Given the description of an element on the screen output the (x, y) to click on. 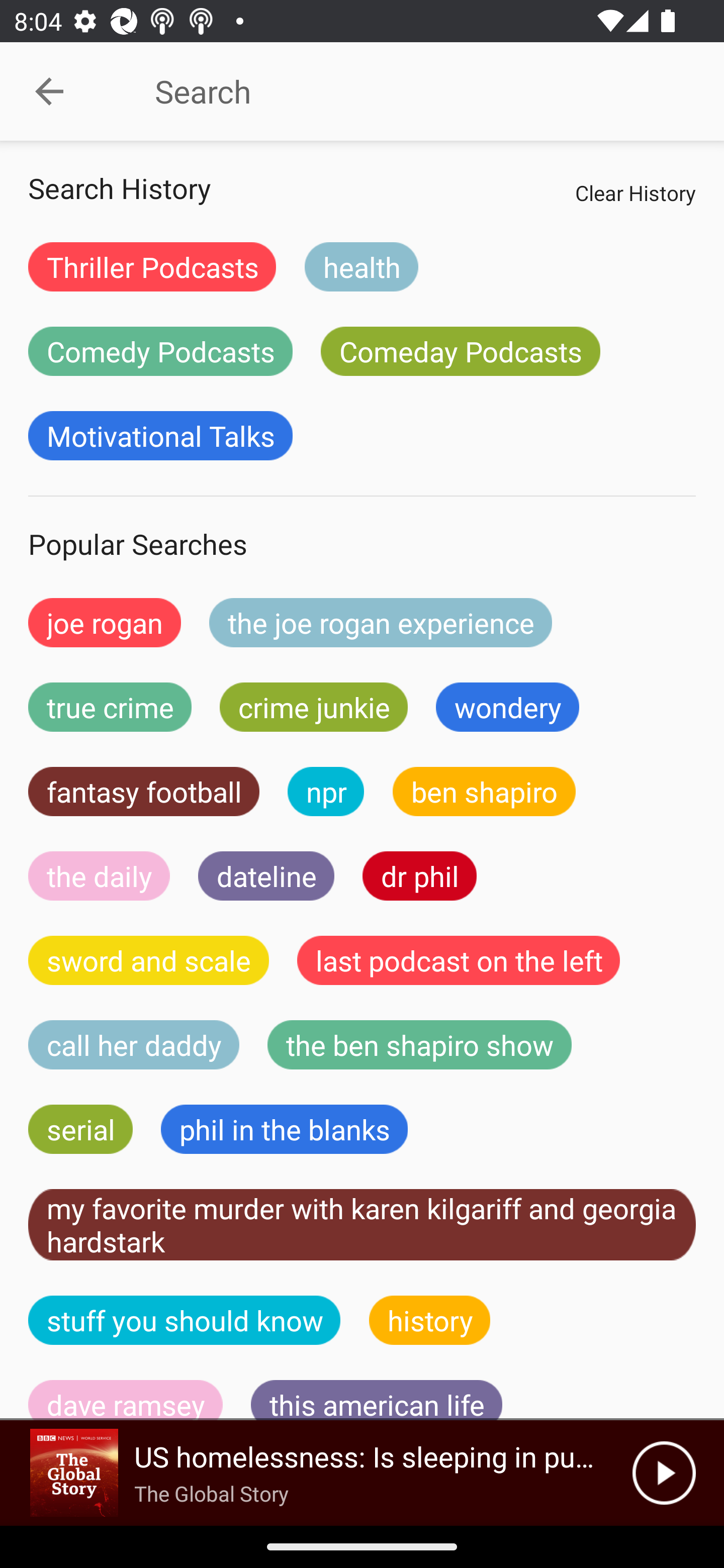
Collapse (49, 91)
Search (407, 91)
Clear History (634, 192)
Thriller Podcasts (152, 266)
health (361, 266)
Comedy Podcasts (160, 351)
Comeday Podcasts (460, 351)
Motivational Talks (160, 435)
joe rogan (104, 622)
the joe rogan experience (380, 622)
true crime (109, 707)
crime junkie (313, 707)
wondery (507, 707)
fantasy football (143, 791)
npr (325, 791)
ben shapiro (483, 791)
the daily (99, 875)
dateline (266, 875)
dr phil (419, 875)
sword and scale (148, 960)
last podcast on the left (458, 960)
call her daddy (133, 1044)
the ben shapiro show (419, 1044)
serial (80, 1128)
phil in the blanks (283, 1128)
stuff you should know (184, 1320)
history (429, 1320)
dave ramsey (125, 1399)
this american life (376, 1399)
Play (663, 1472)
